Given the description of an element on the screen output the (x, y) to click on. 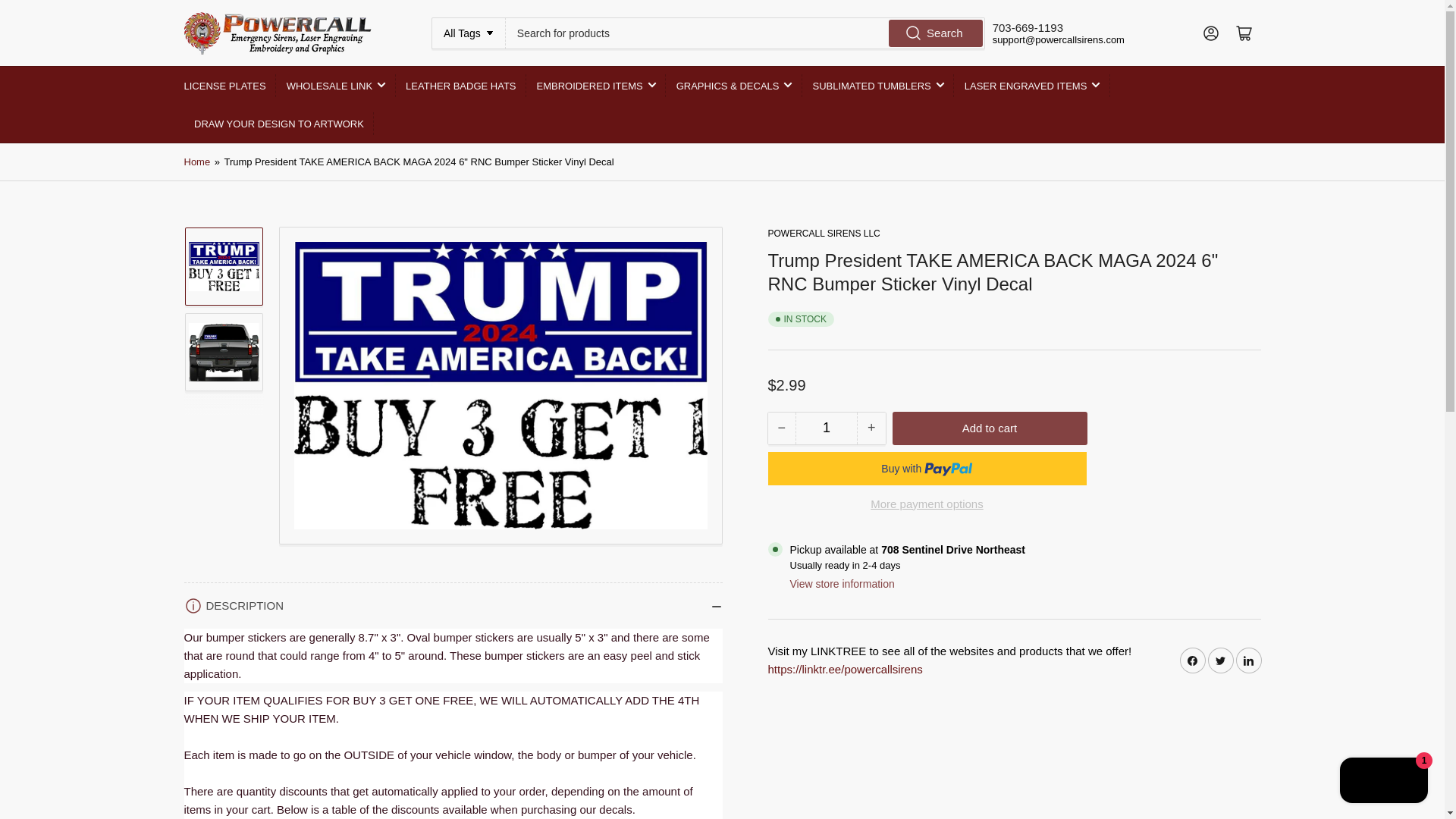
Powercall Sirens LLC (823, 233)
1 (825, 428)
Open mini cart (1243, 32)
Shopify online store chat (1383, 781)
Search (935, 32)
Log in (1210, 32)
